Given the description of an element on the screen output the (x, y) to click on. 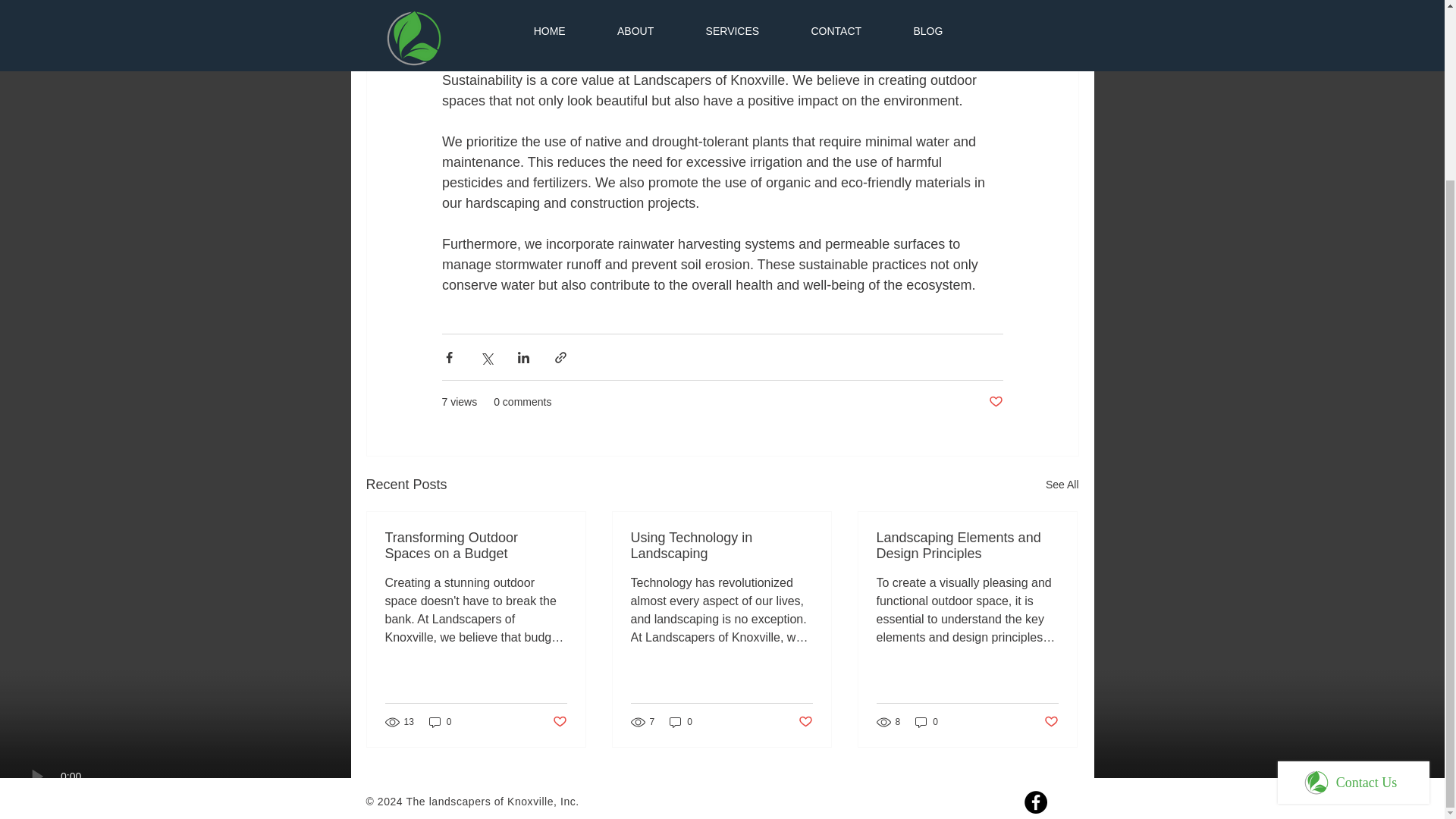
Post not marked as liked (995, 401)
Transforming Outdoor Spaces on a Budget (476, 545)
See All (1061, 485)
0 (681, 721)
0 (440, 721)
Landscaping Elements and Design Principles (967, 545)
Using Technology in Landscaping (721, 545)
Post not marked as liked (804, 721)
Post not marked as liked (558, 721)
Post not marked as liked (1050, 721)
0 (926, 721)
